Given the description of an element on the screen output the (x, y) to click on. 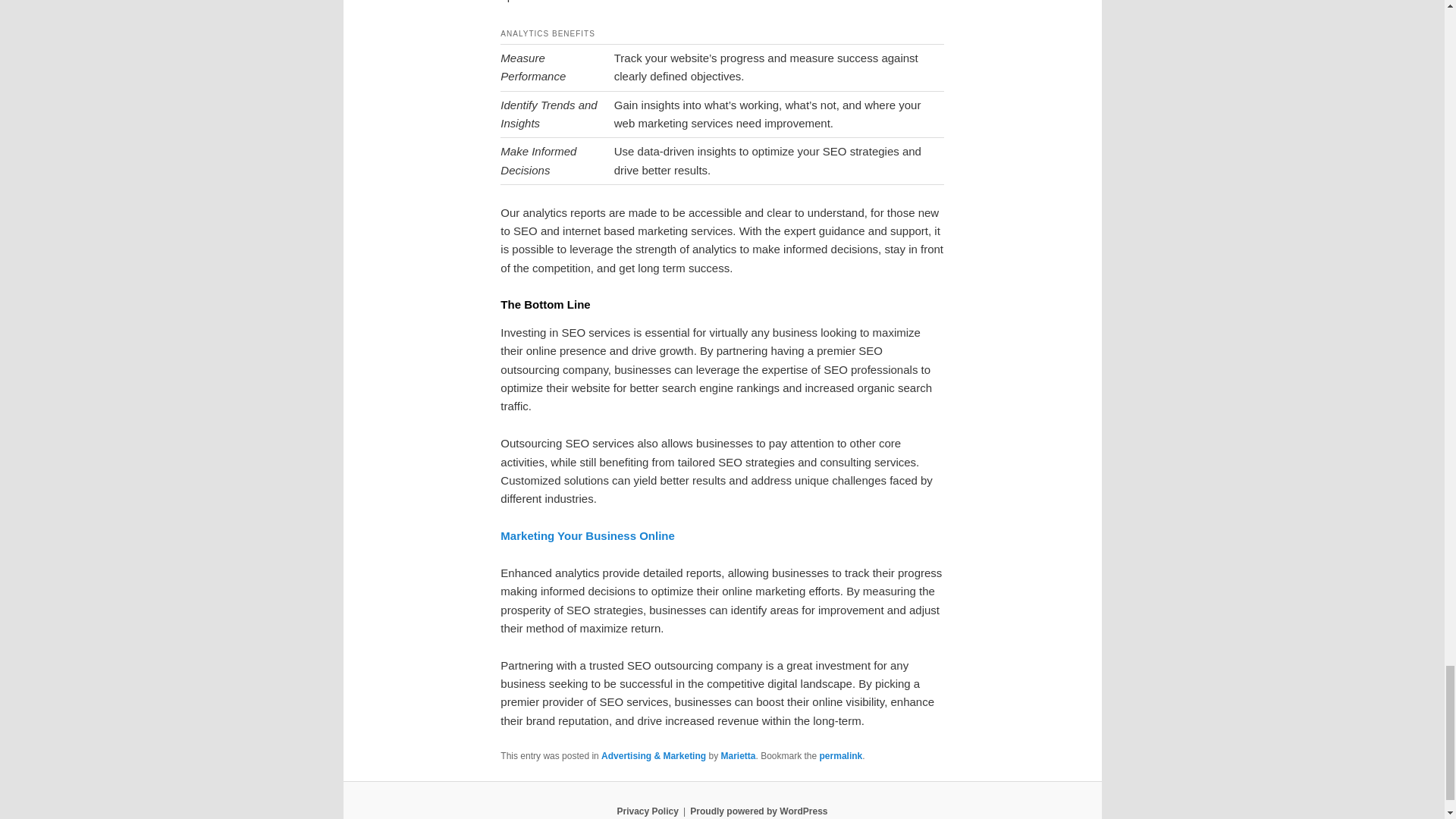
Permalink to Your Ultimate Destination for SEO Services (841, 756)
Marietta (737, 756)
Proudly powered by WordPress (758, 810)
Privacy Policy (646, 810)
permalink (841, 756)
Semantic Personal Publishing Platform (758, 810)
Marketing Your Business Online (587, 535)
